Given the description of an element on the screen output the (x, y) to click on. 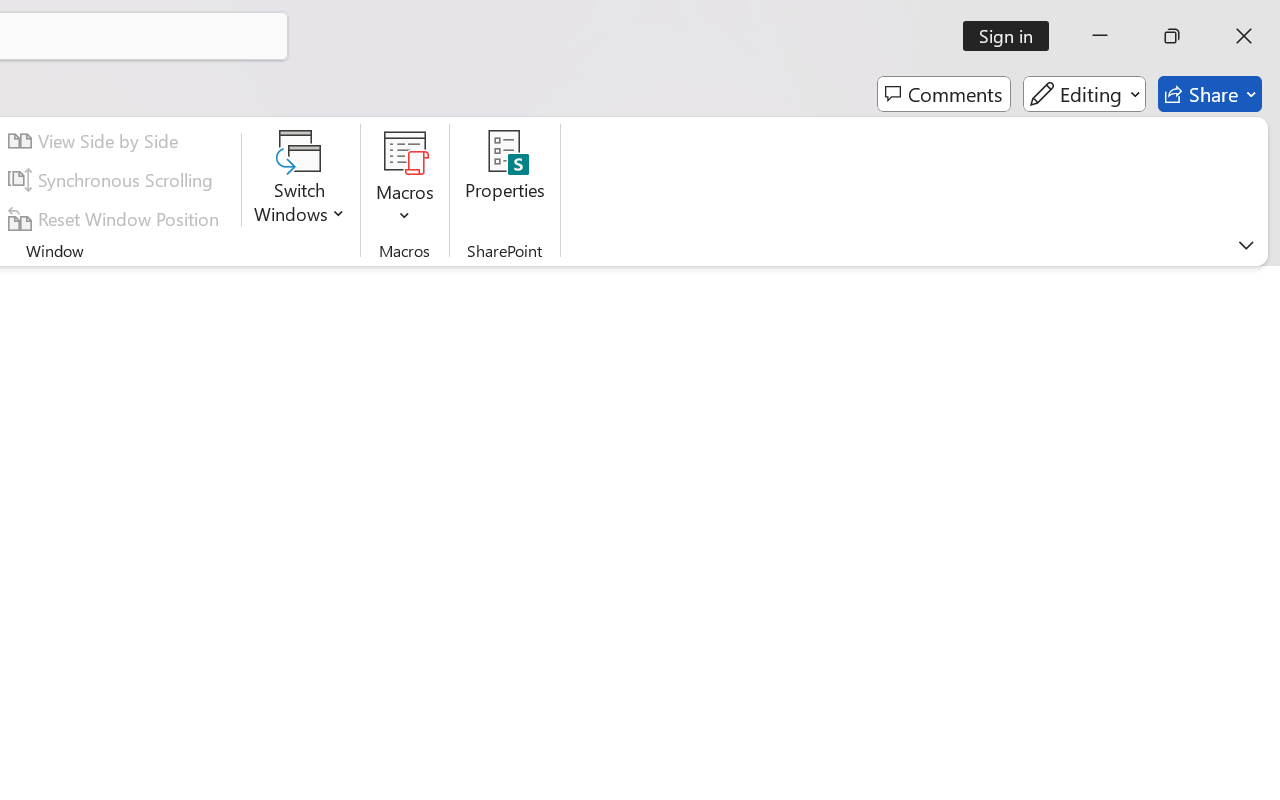
View Macros (404, 151)
Switch Windows (299, 179)
Reset Window Position (116, 218)
Macros (404, 179)
View Side by Side (96, 141)
Synchronous Scrolling (114, 179)
Properties (505, 179)
